Given the description of an element on the screen output the (x, y) to click on. 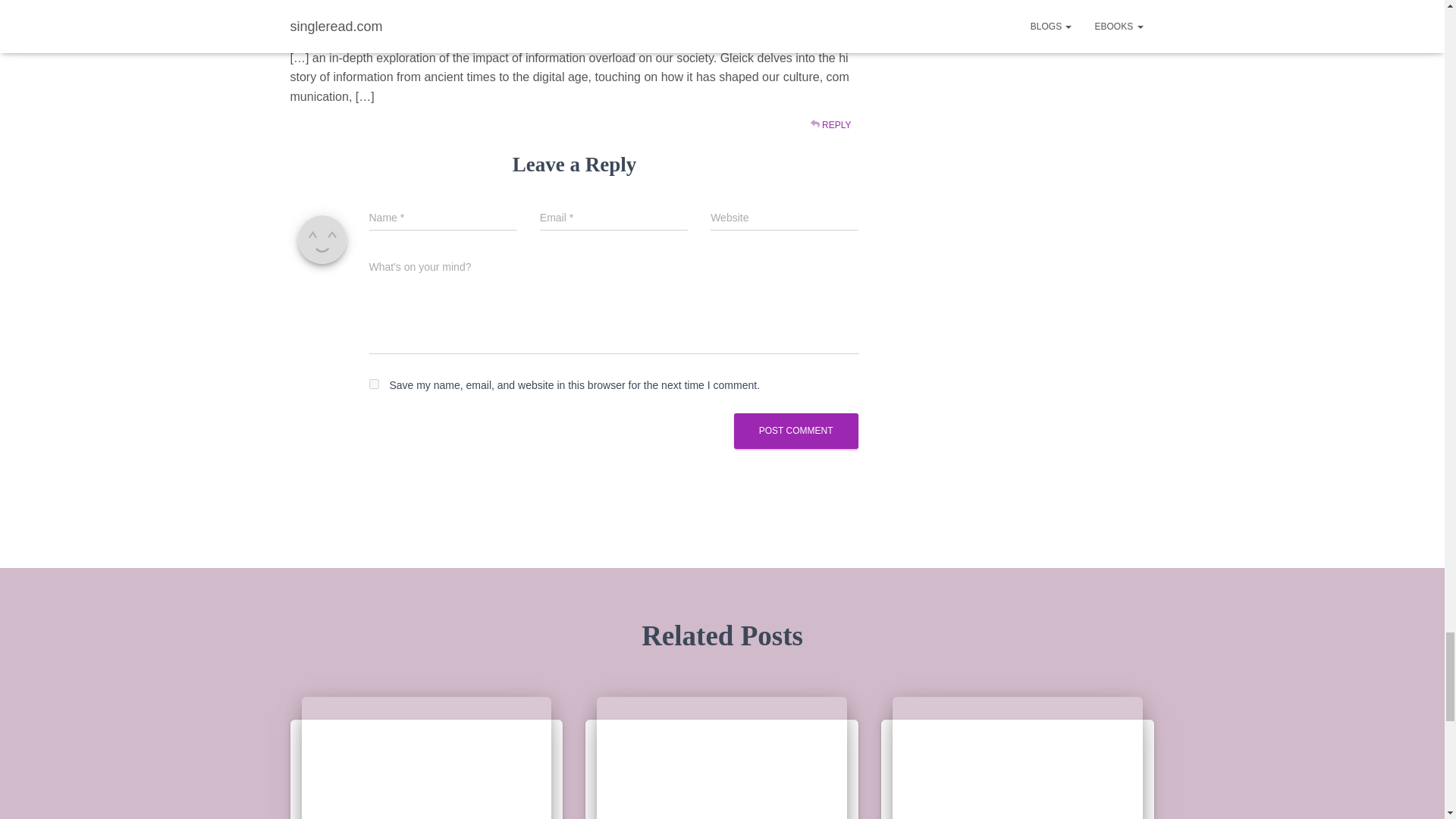
yes (373, 384)
Post Comment (796, 430)
